Given the description of an element on the screen output the (x, y) to click on. 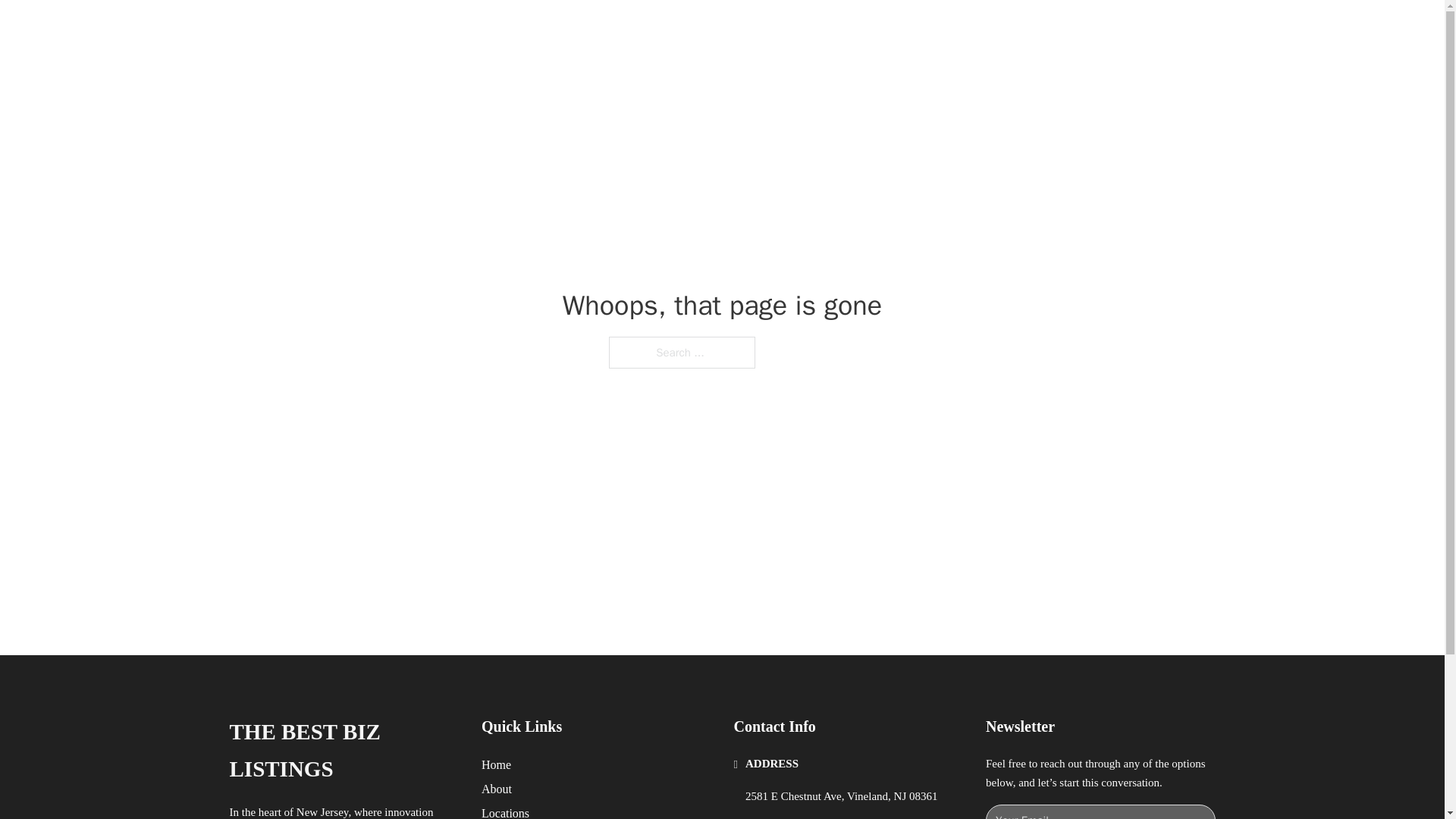
THE BEST BIZ LISTINGS (426, 28)
HOME (919, 29)
About (496, 788)
Locations (505, 811)
LOCATIONS (990, 29)
THE BEST BIZ LISTINGS (343, 750)
Home (496, 764)
